Given the description of an element on the screen output the (x, y) to click on. 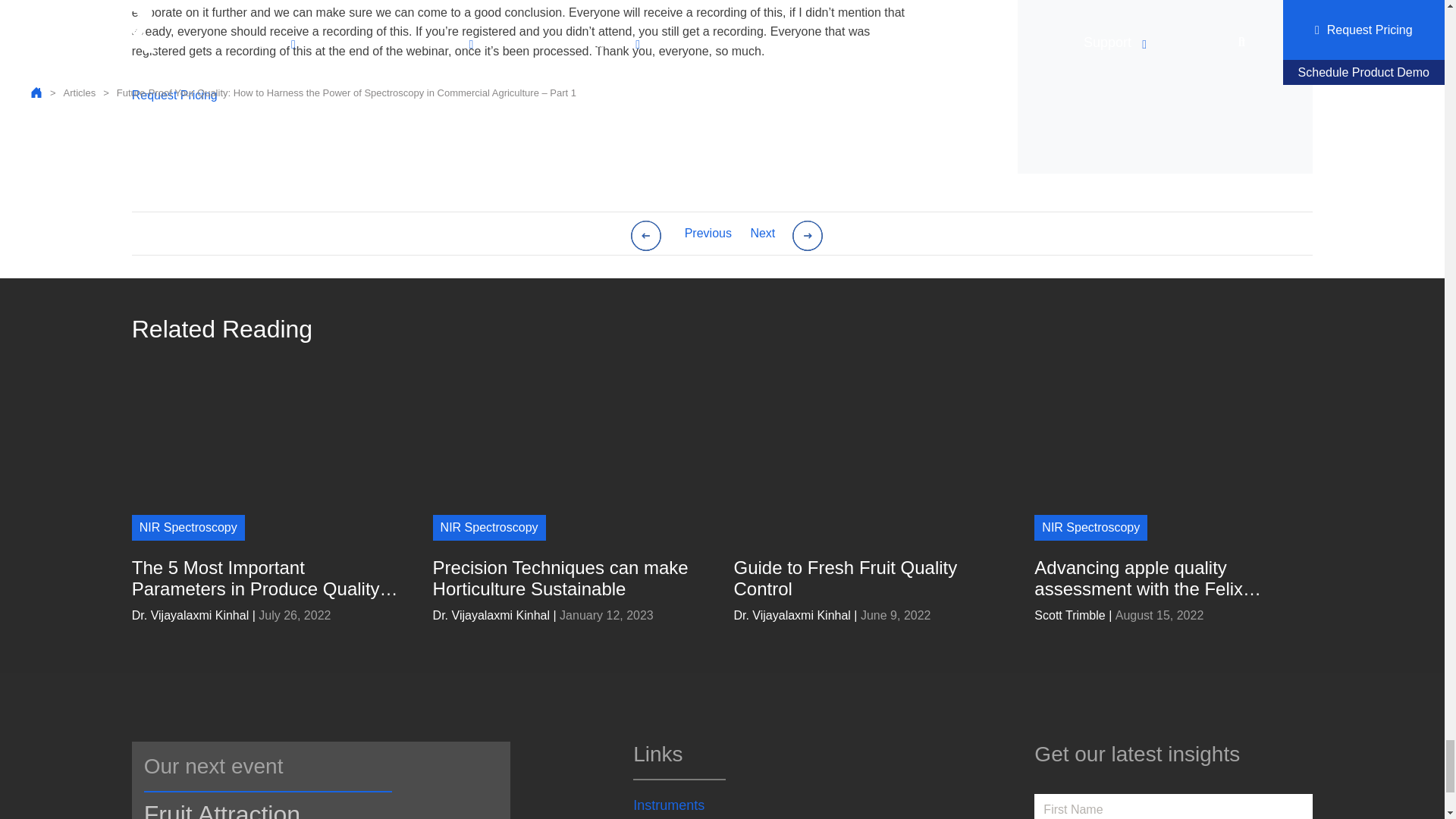
The 5 Most Important Parameters in Produce Quality Control (265, 578)
Guide to Fresh Fruit Quality Control (866, 578)
Precision Techniques can make Horticulture Sustainable (566, 578)
